Given the description of an element on the screen output the (x, y) to click on. 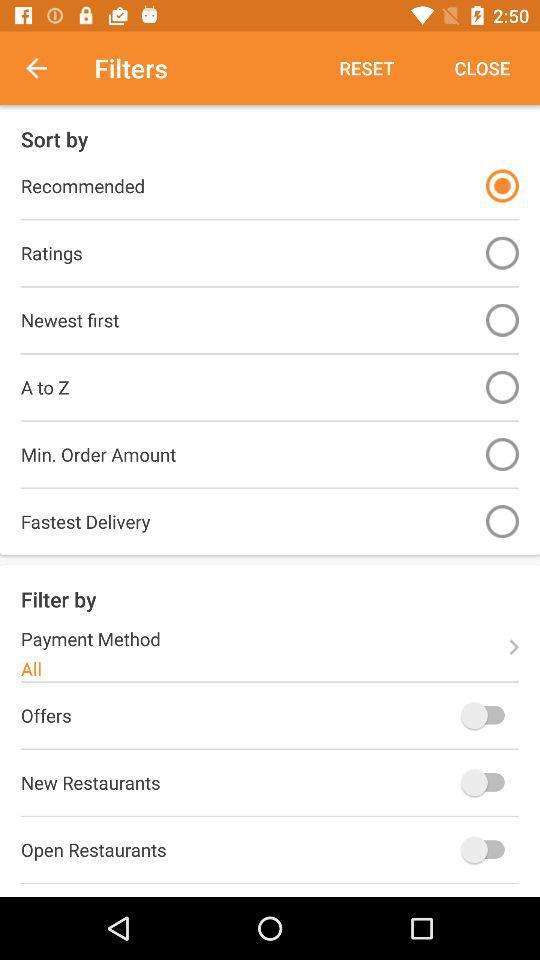
turn on icon above the sort by (366, 68)
